Given the description of an element on the screen output the (x, y) to click on. 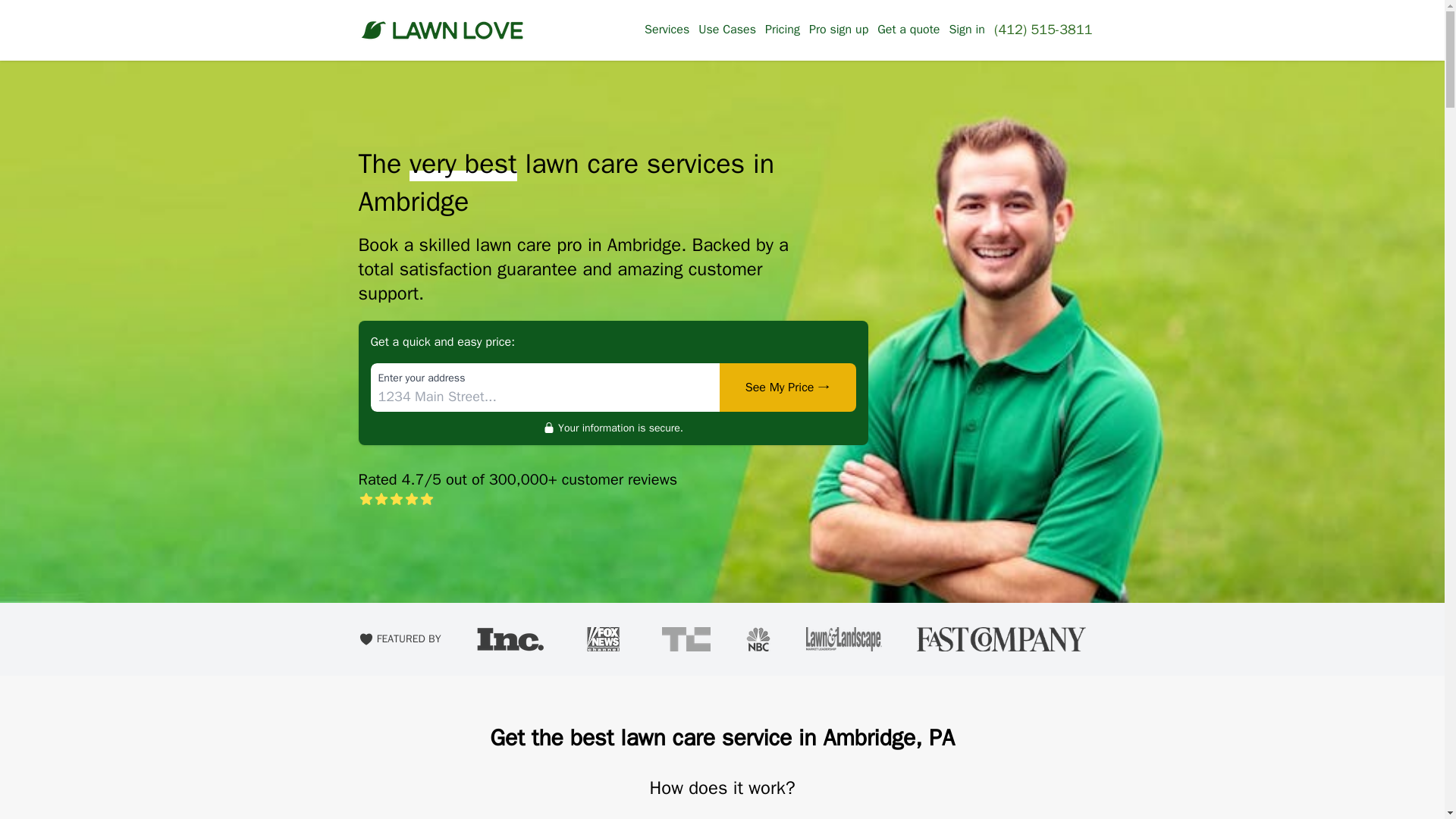
Get a quote (908, 29)
Pricing (782, 29)
Services (666, 29)
Sign in (967, 29)
Pro sign up (838, 29)
Use Cases (726, 29)
